Given the description of an element on the screen output the (x, y) to click on. 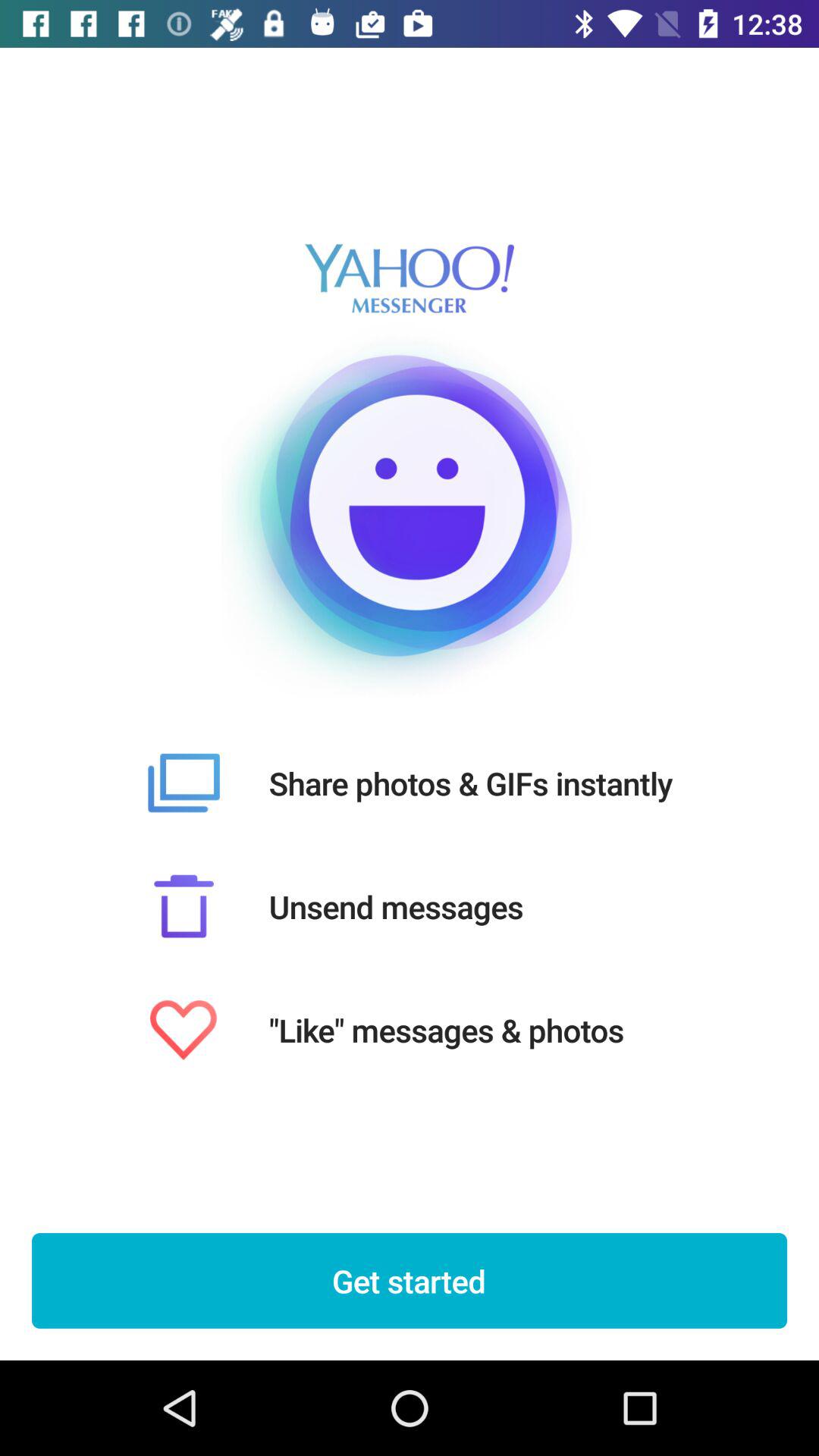
open the icon below the "like" messages & photos icon (409, 1280)
